Given the description of an element on the screen output the (x, y) to click on. 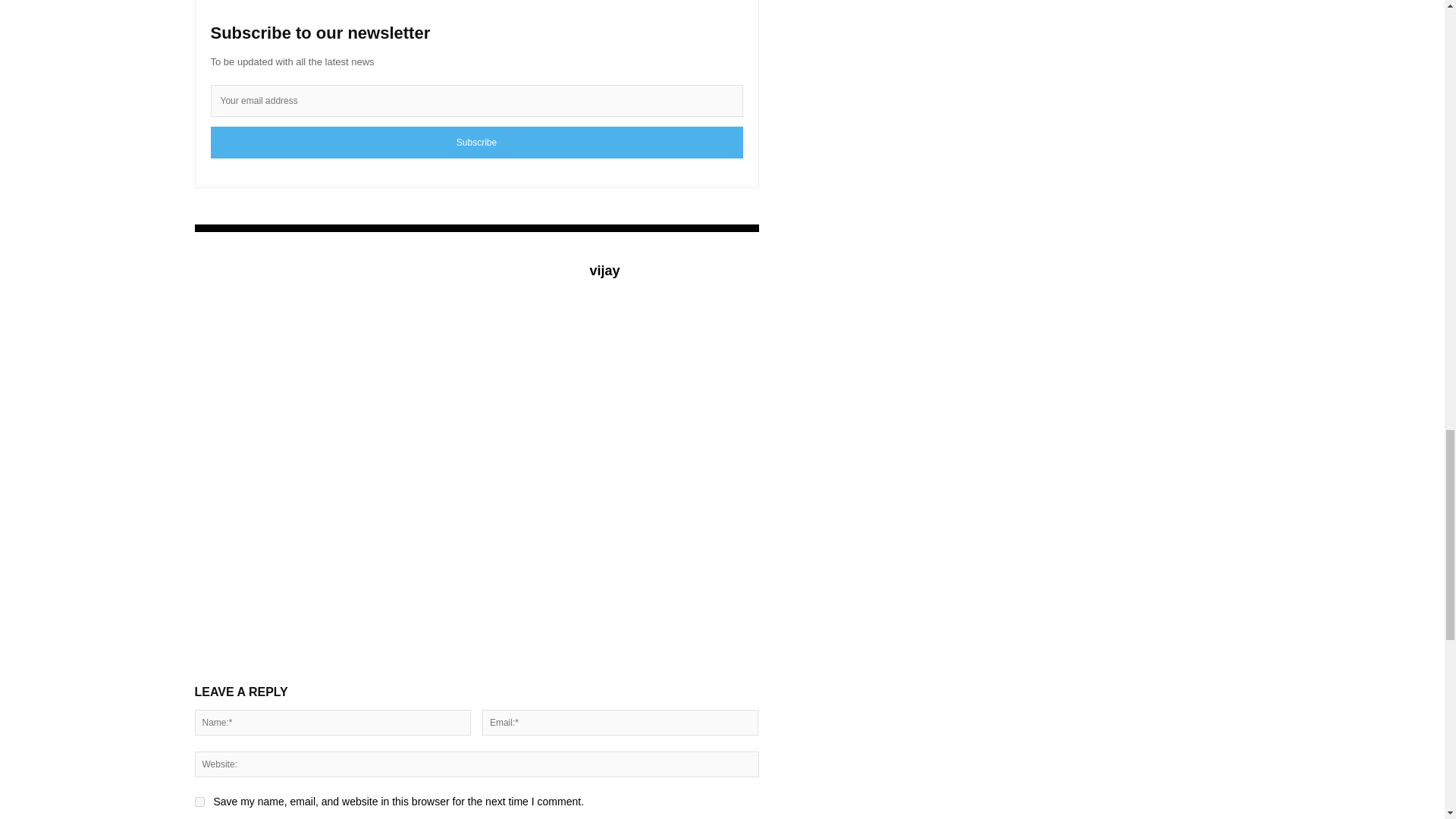
Subscribe (476, 142)
yes (198, 801)
vijay (604, 271)
